Given the description of an element on the screen output the (x, y) to click on. 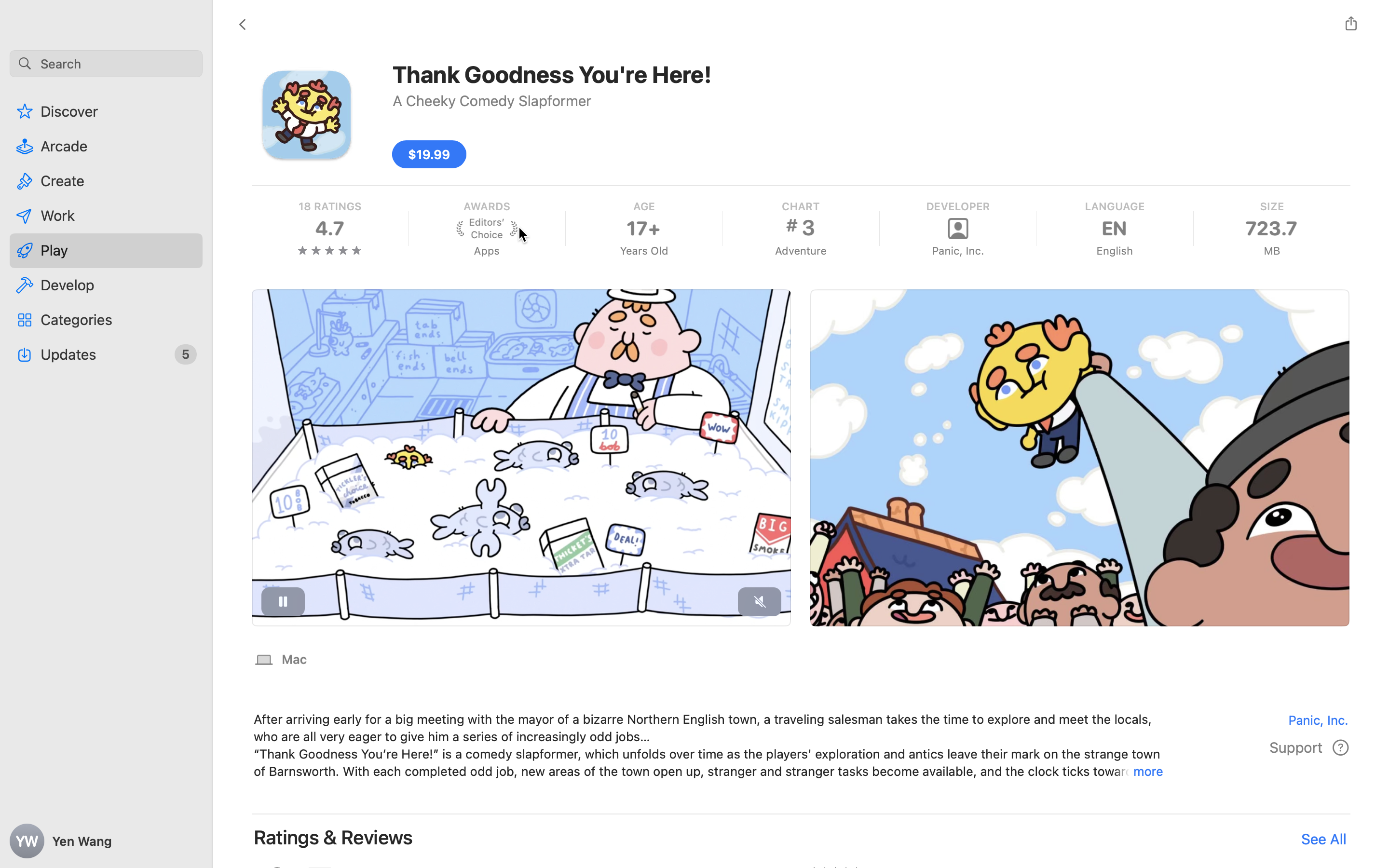
English, LANGUAGE, EN Element type: AXStaticText (1113, 228)
Apps, AWARDS, Editors’
Choice Element type: AXStaticText (485, 228)
​￼￼Mac Element type: AXStaticText (280, 658)
723.7 Element type: AXStaticText (1271, 228)
AWARDS Element type: AXStaticText (485, 206)
